Given the description of an element on the screen output the (x, y) to click on. 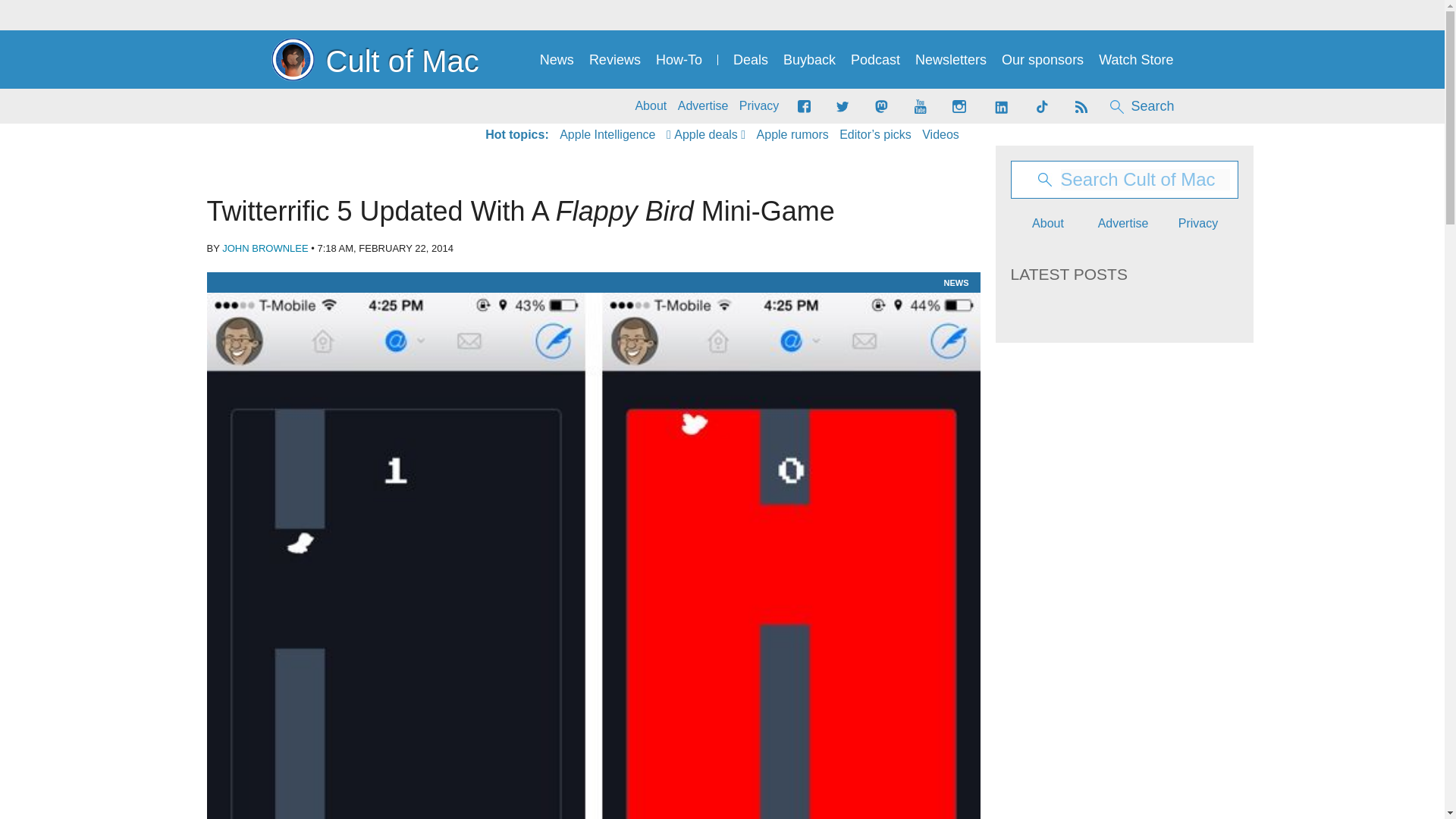
Apple rumors (792, 134)
Cult of Mac (374, 59)
Posts by John Brownlee (264, 247)
Apple legal battles (792, 134)
Apple Intelligence (607, 134)
About (650, 105)
Videos (940, 134)
Our sponsors (1042, 59)
Podcast (875, 59)
How-To (678, 59)
Advertise (703, 105)
Reviews (613, 59)
Hot topics: (516, 134)
Buyback (809, 59)
